Given the description of an element on the screen output the (x, y) to click on. 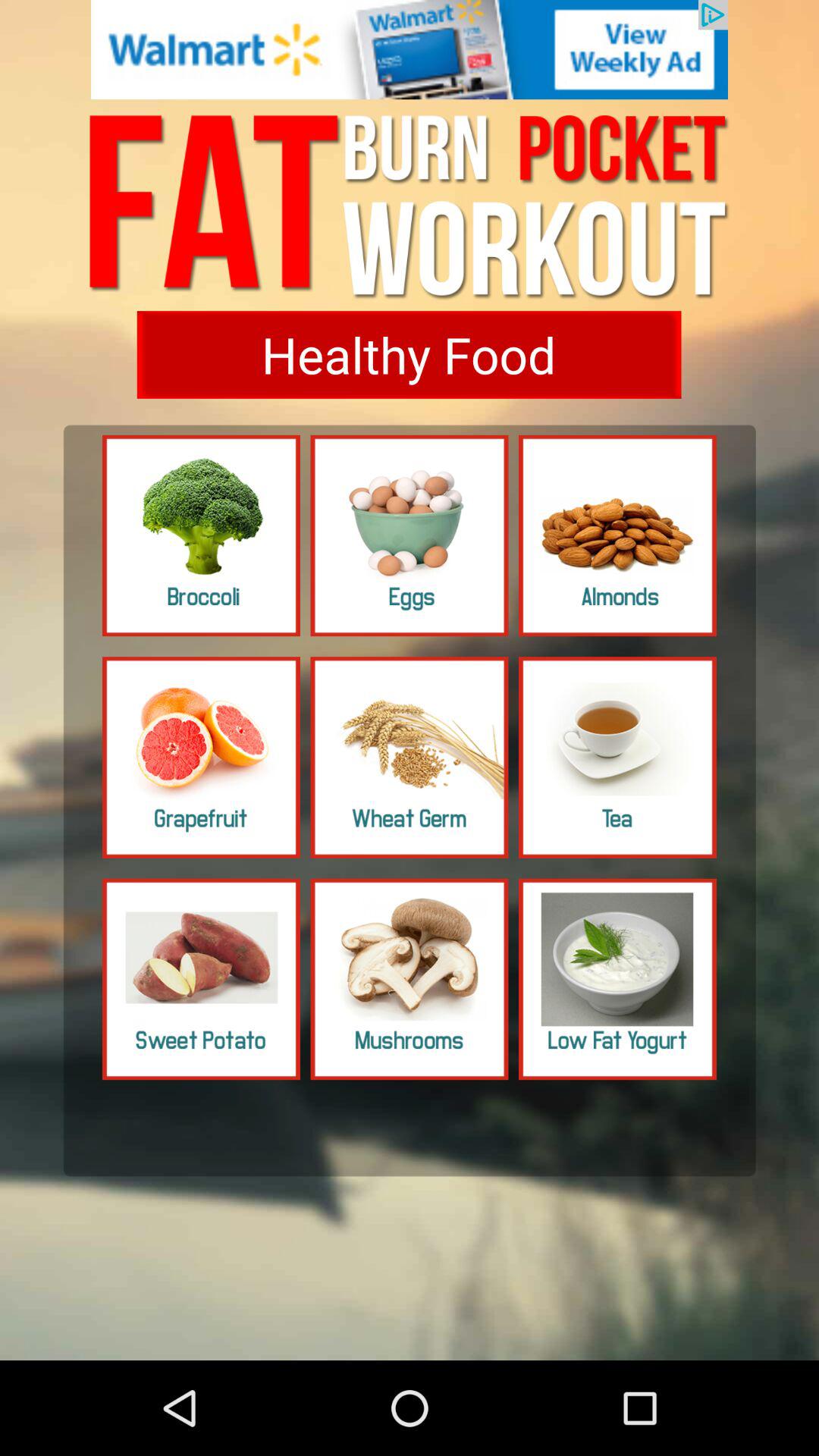
click to the food (617, 979)
